Given the description of an element on the screen output the (x, y) to click on. 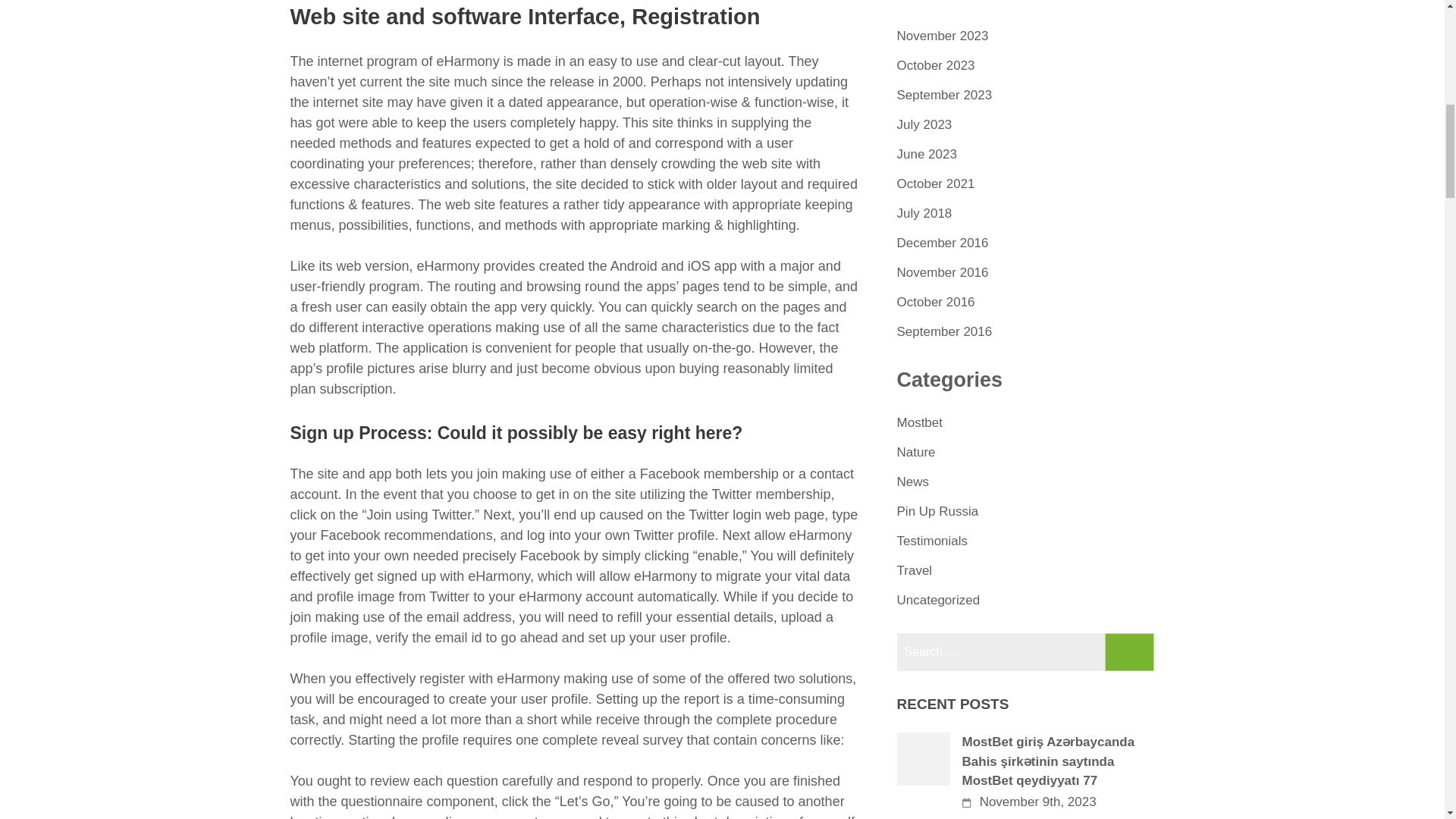
Search (1129, 651)
Search (1129, 651)
